Given the description of an element on the screen output the (x, y) to click on. 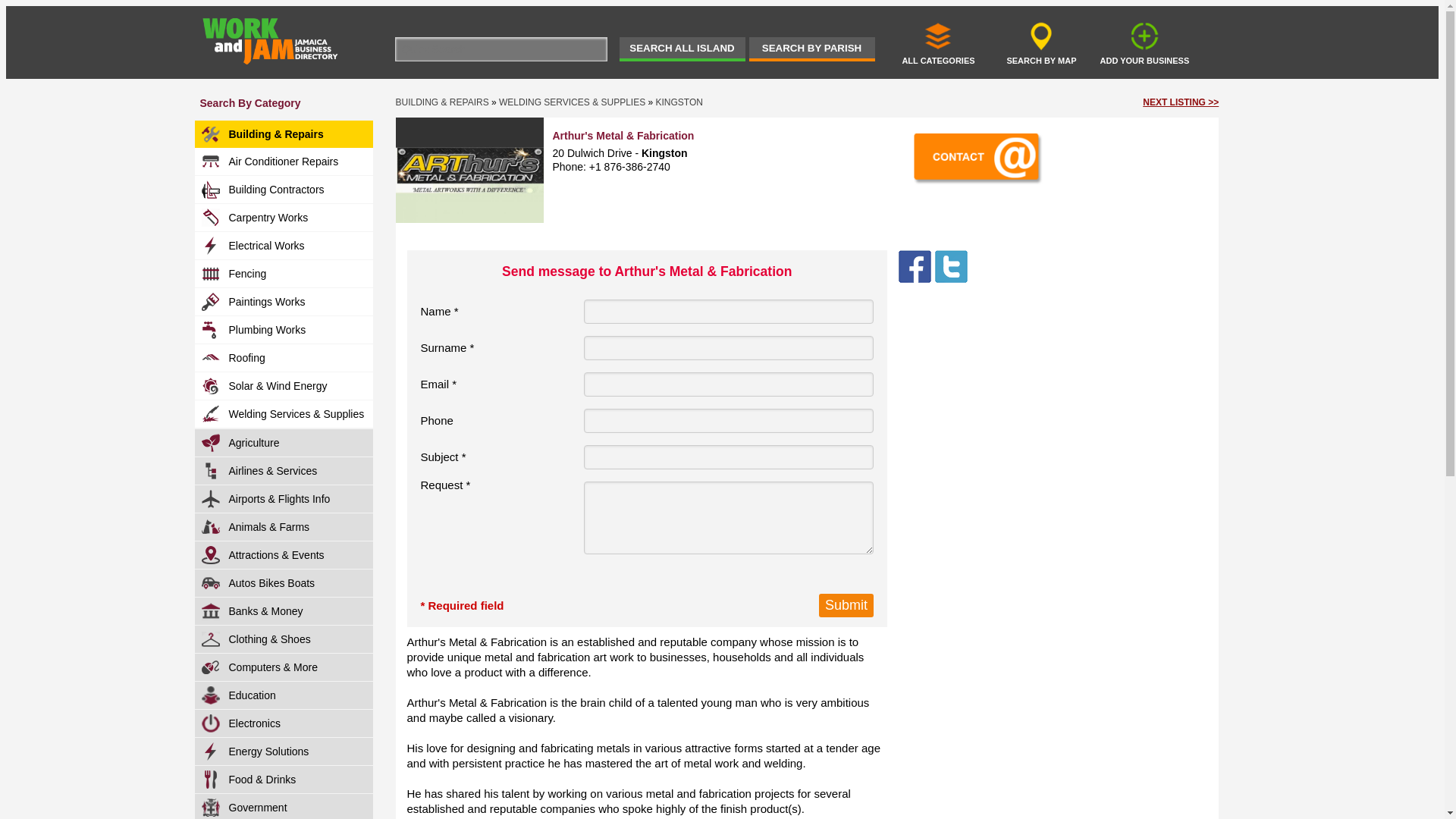
SEARCH BY MAP (1041, 41)
SEARCH ALL ISLAND (681, 48)
ADD YOUR BUSINESS (1144, 41)
ALL CATEGORIES (938, 41)
SEARCH BY PARISH (812, 48)
Submit (845, 605)
